Given the description of an element on the screen output the (x, y) to click on. 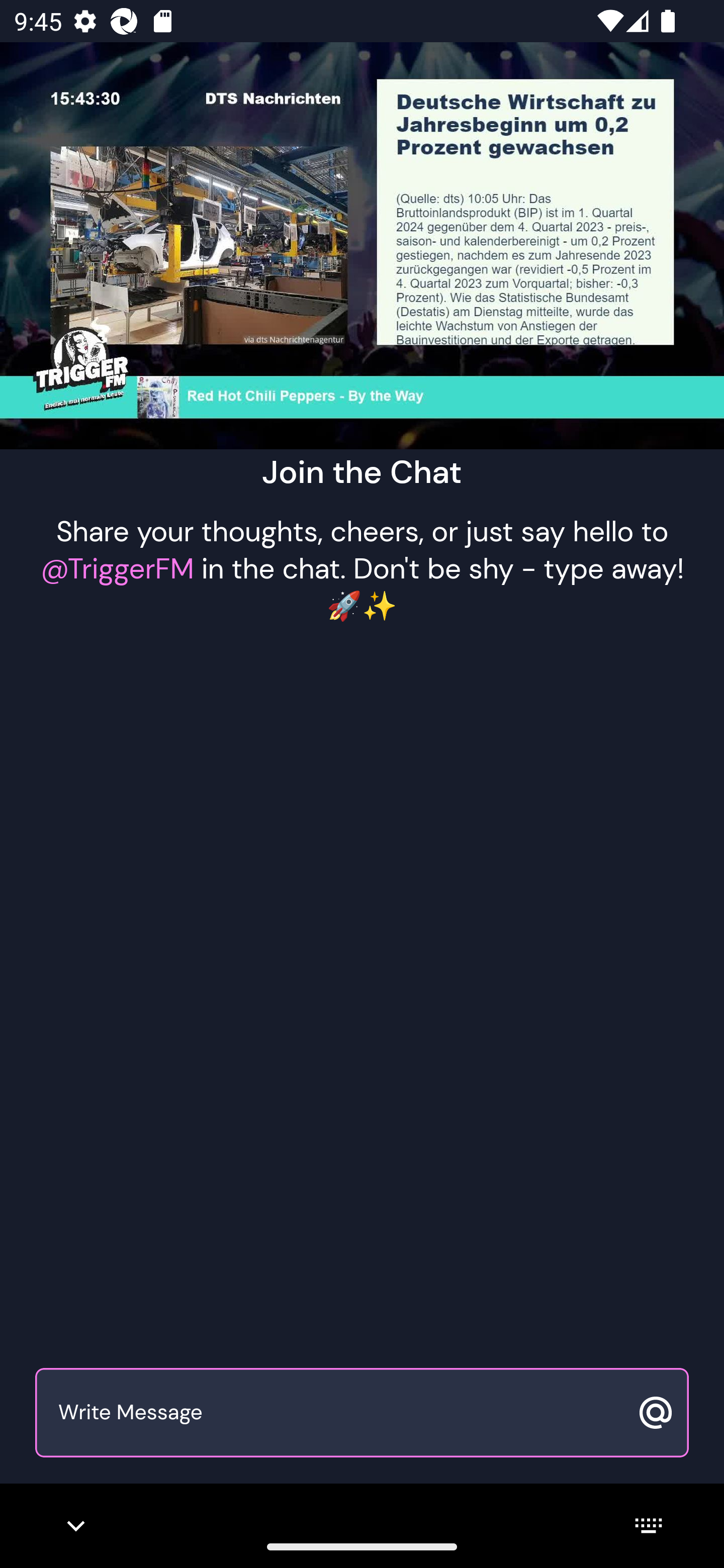
Write Message (340, 1413)
